Given the description of an element on the screen output the (x, y) to click on. 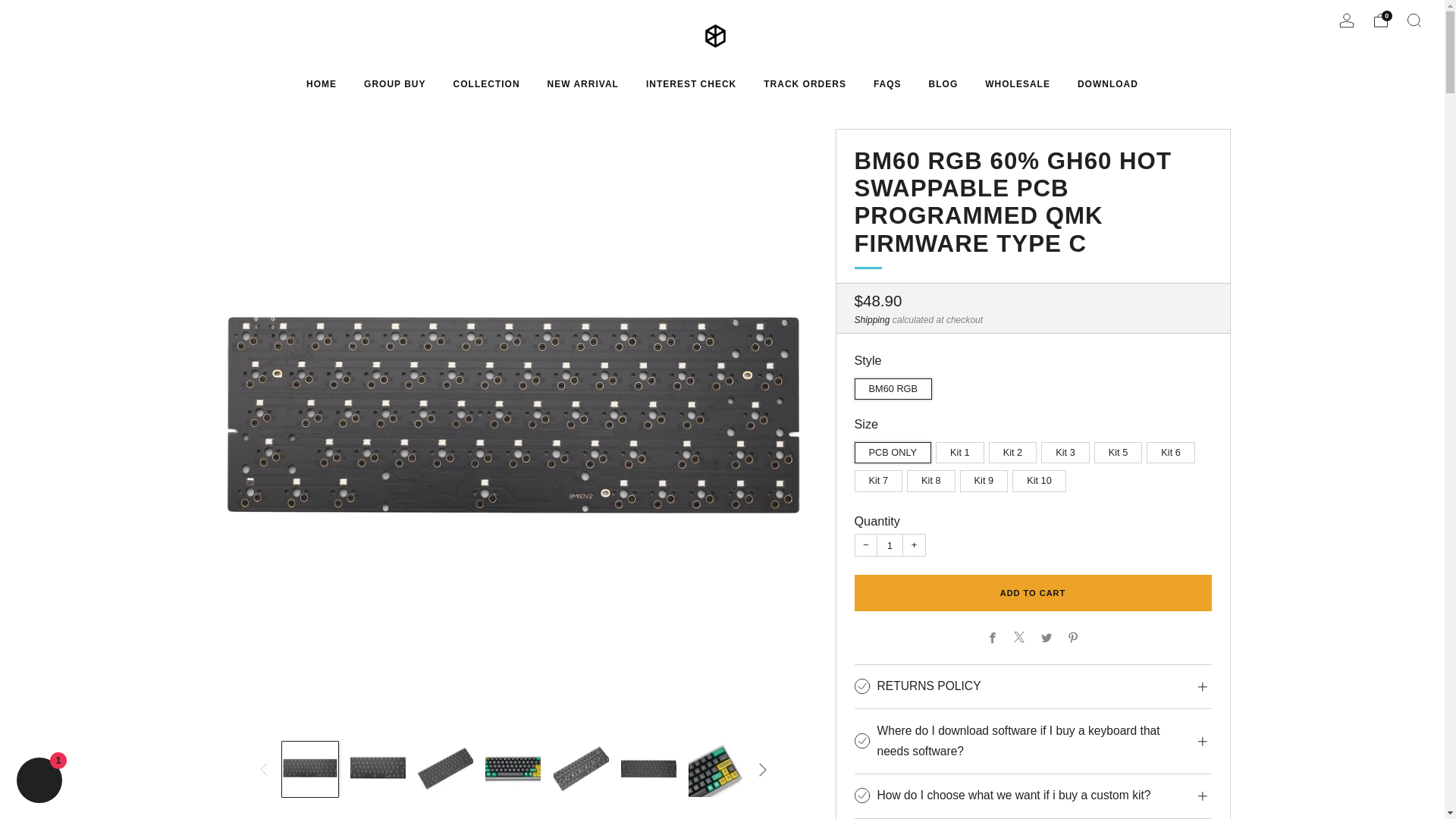
Kit 5 (1120, 448)
COLLECTION (485, 84)
Kit 10 (1040, 477)
1 (890, 545)
Kit 7 (880, 477)
BM60 RGB (894, 385)
PCB ONLY (894, 448)
HOME (320, 84)
Kit 2 (1015, 448)
